Given the description of an element on the screen output the (x, y) to click on. 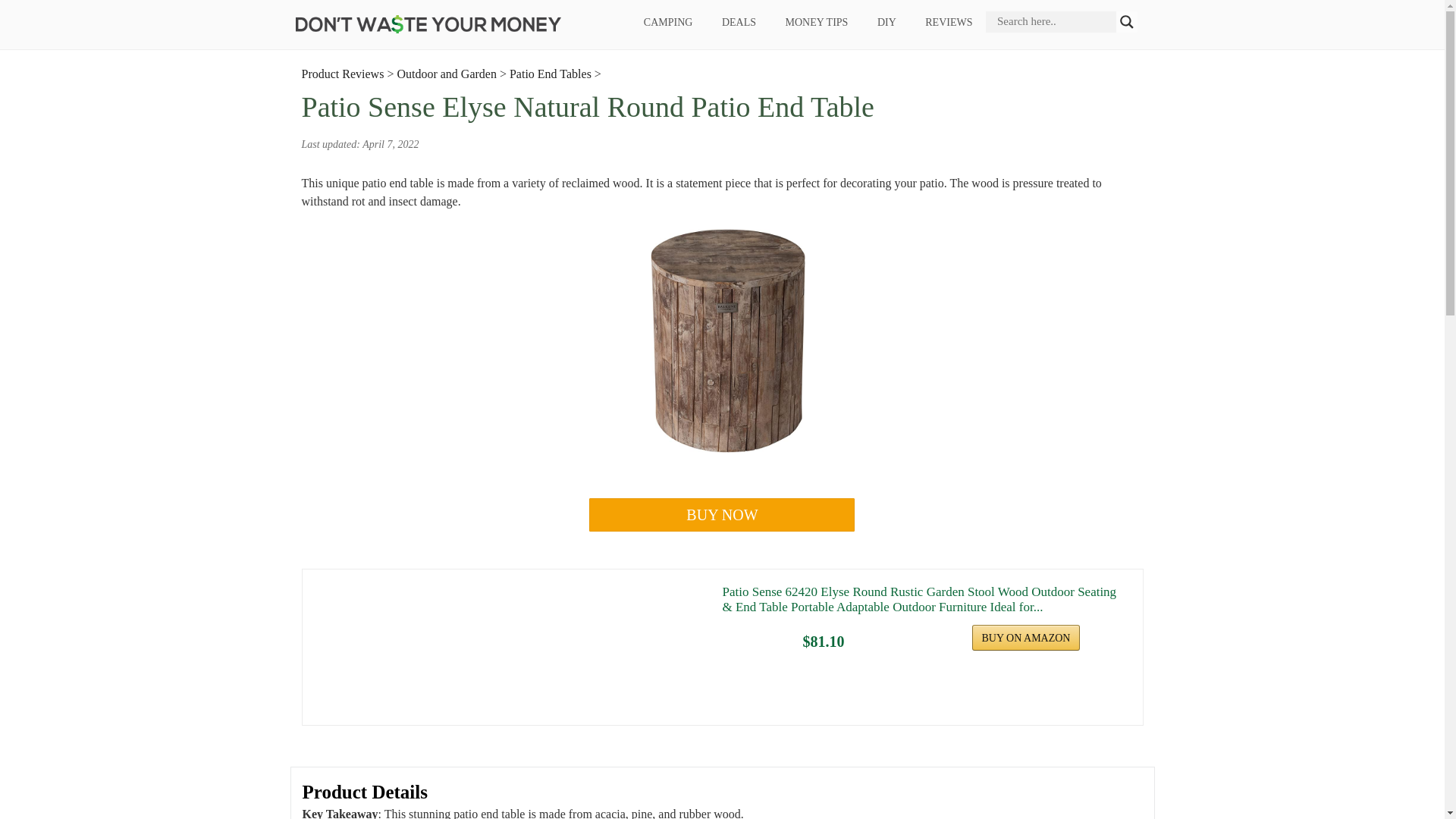
CAMPING (668, 22)
BUY ON AMAZON (1026, 637)
Patio End Tables (550, 73)
BUY ON AMAZON (1026, 637)
BUY NOW (721, 514)
REVIEWS (948, 22)
MONEY TIPS (816, 22)
DEALS (737, 22)
Outdoor and Garden (446, 73)
Product Reviews (342, 73)
